Given the description of an element on the screen output the (x, y) to click on. 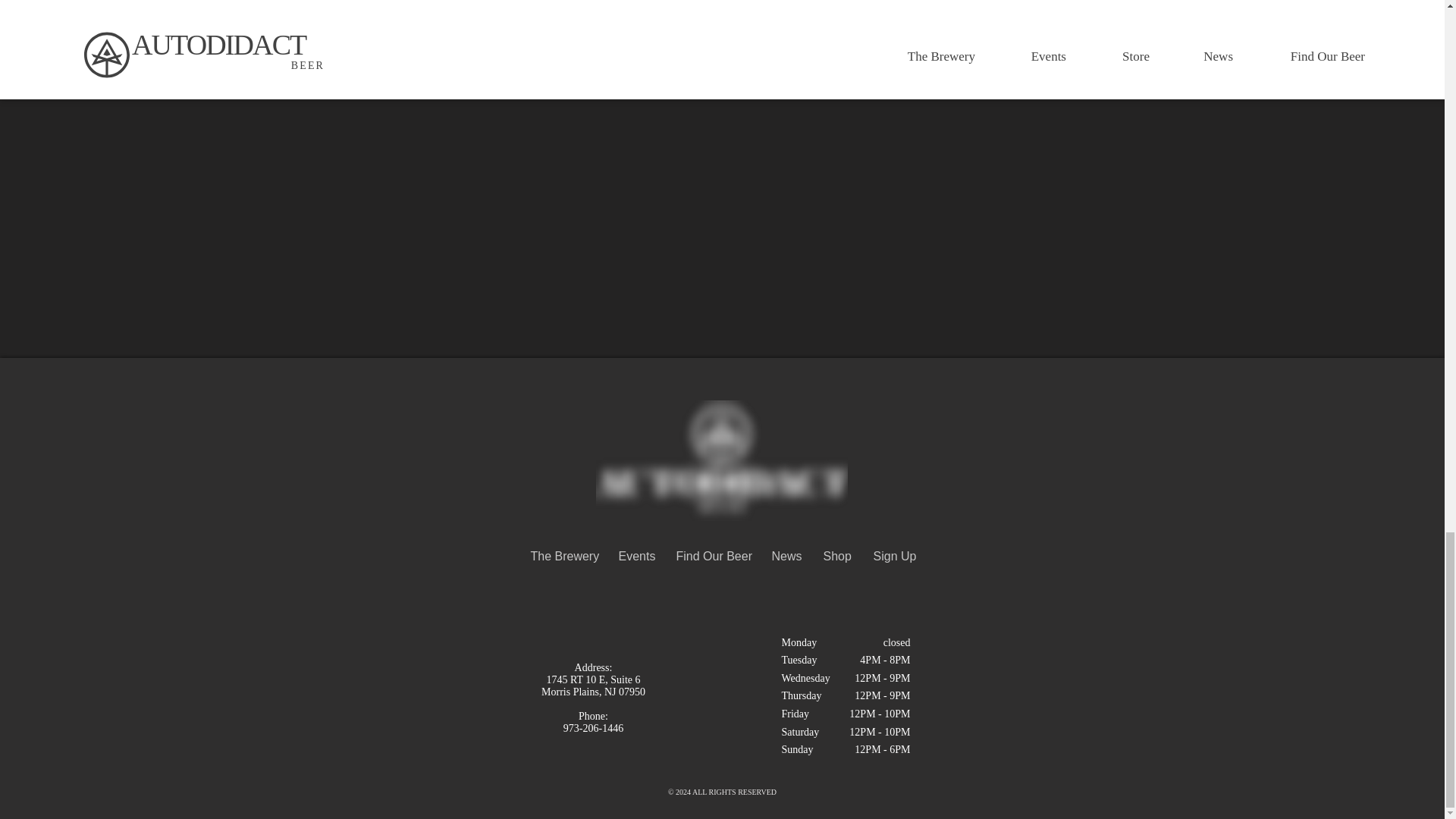
The Brewery (562, 556)
Events (635, 556)
Sign Up (892, 556)
Shop (835, 556)
Find Our Beer (711, 556)
News (785, 556)
